Given the description of an element on the screen output the (x, y) to click on. 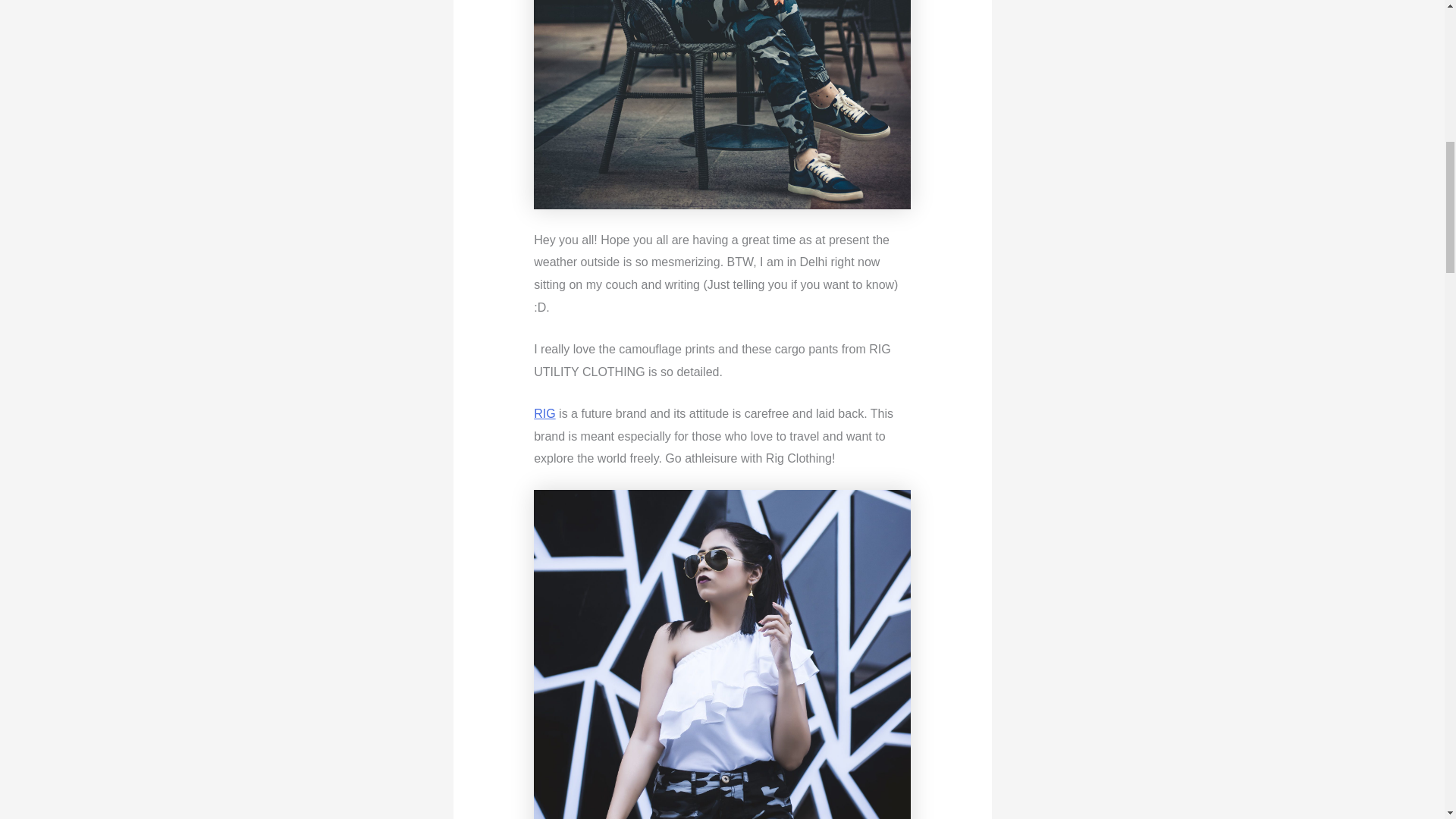
RIG (544, 413)
